Given the description of an element on the screen output the (x, y) to click on. 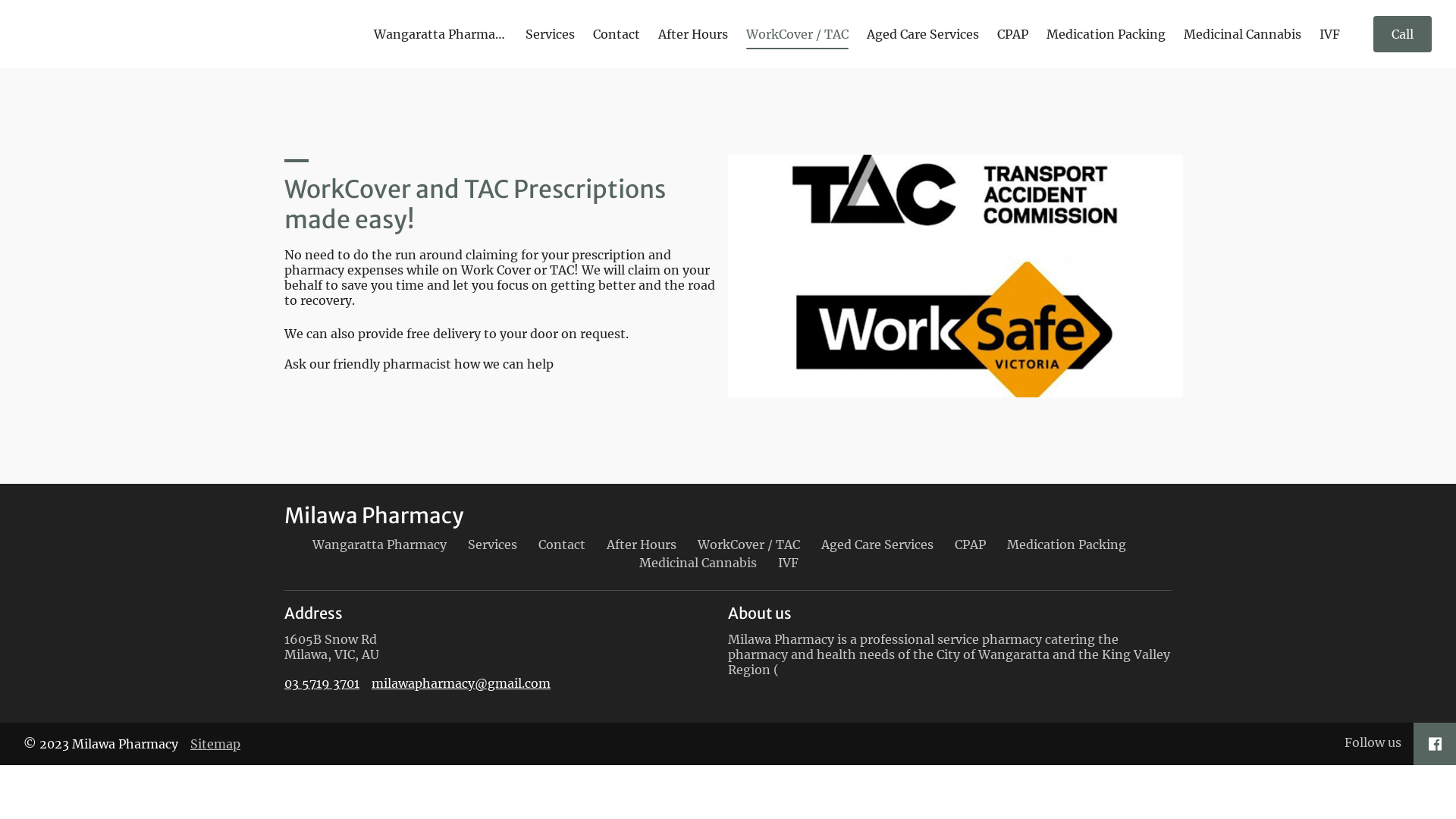
Medicinal Cannabis Element type: text (697, 562)
Services Element type: text (549, 33)
milawapharmacy@gmail.com Element type: text (460, 683)
Call Element type: text (1402, 33)
Wangaratta Pharmacy Element type: text (440, 33)
IVF Element type: text (788, 562)
CPAP Element type: text (969, 544)
WorkCover / TAC Element type: text (797, 33)
After Hours Element type: text (693, 33)
After Hours Element type: text (641, 544)
Contact Element type: text (616, 33)
Contact Element type: text (561, 544)
Aged Care Services Element type: text (876, 544)
Services Element type: text (491, 544)
IVF Element type: text (1329, 33)
Medication Packing Element type: text (1066, 544)
Medication Packing Element type: text (1105, 33)
Medicinal Cannabis Element type: text (1242, 33)
WorkCover / TAC Element type: text (748, 544)
Aged Care Services Element type: text (922, 33)
Wangaratta Pharmacy Element type: text (379, 544)
CPAP Element type: text (1012, 33)
03 5719 3701 Element type: text (321, 683)
Sitemap Element type: text (215, 743)
